Given the description of an element on the screen output the (x, y) to click on. 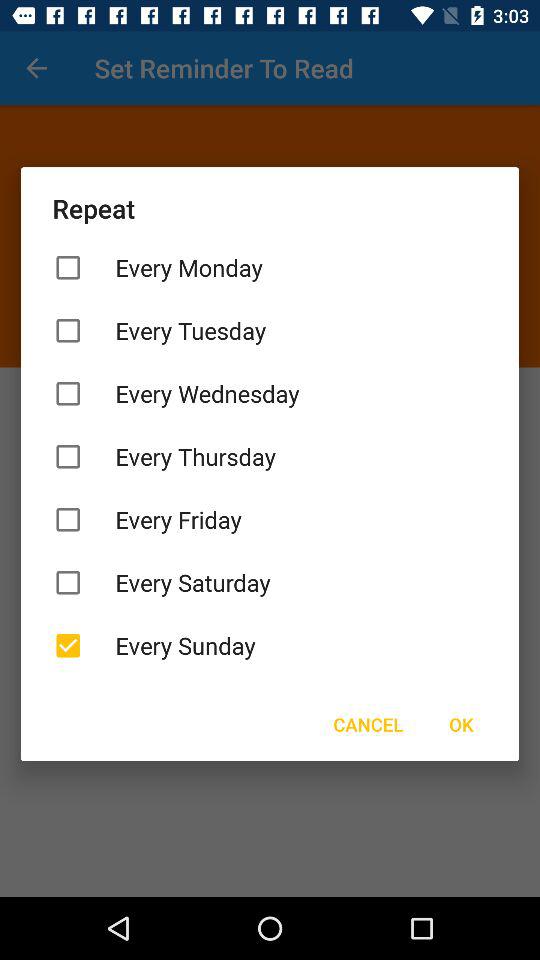
turn on item below the every sunday item (461, 724)
